Given the description of an element on the screen output the (x, y) to click on. 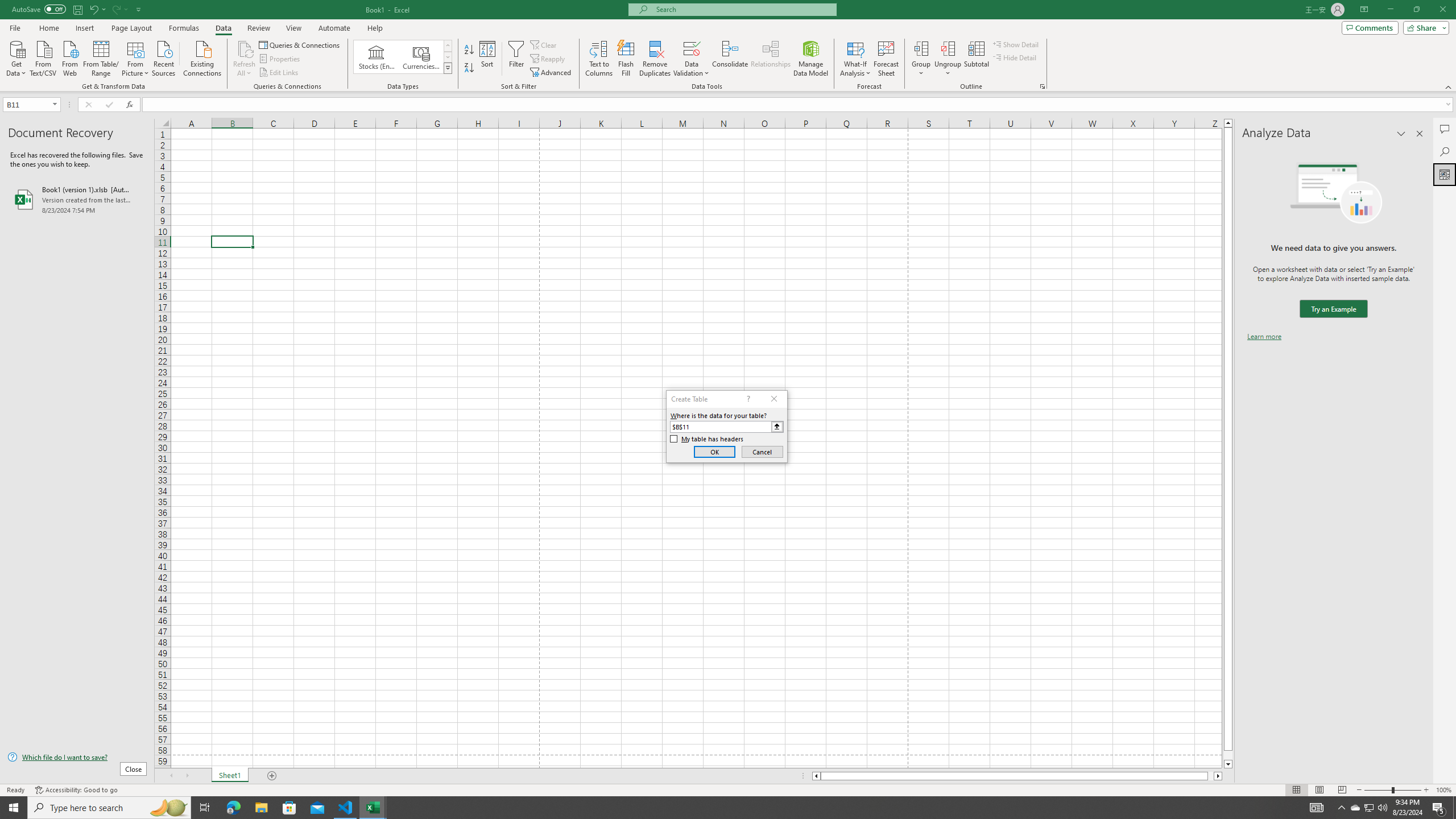
AutoSave (38, 9)
Which file do I want to save? (77, 757)
Sort... (487, 58)
Existing Connections (202, 57)
Get Data (16, 57)
Data Validation... (691, 58)
Group... (921, 58)
